Given the description of an element on the screen output the (x, y) to click on. 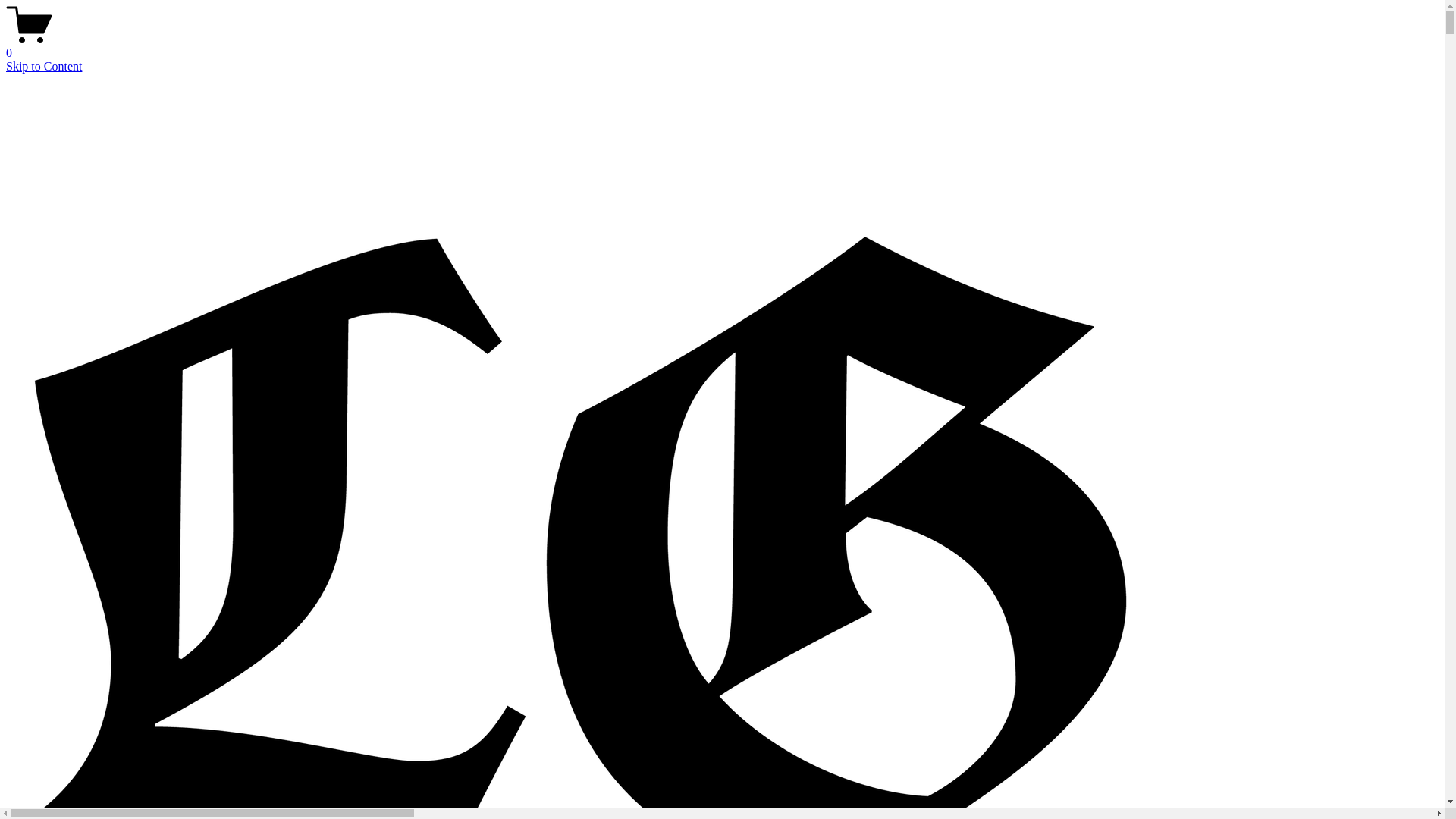
Skip to Content Element type: text (43, 65)
0 Element type: text (722, 45)
